Given the description of an element on the screen output the (x, y) to click on. 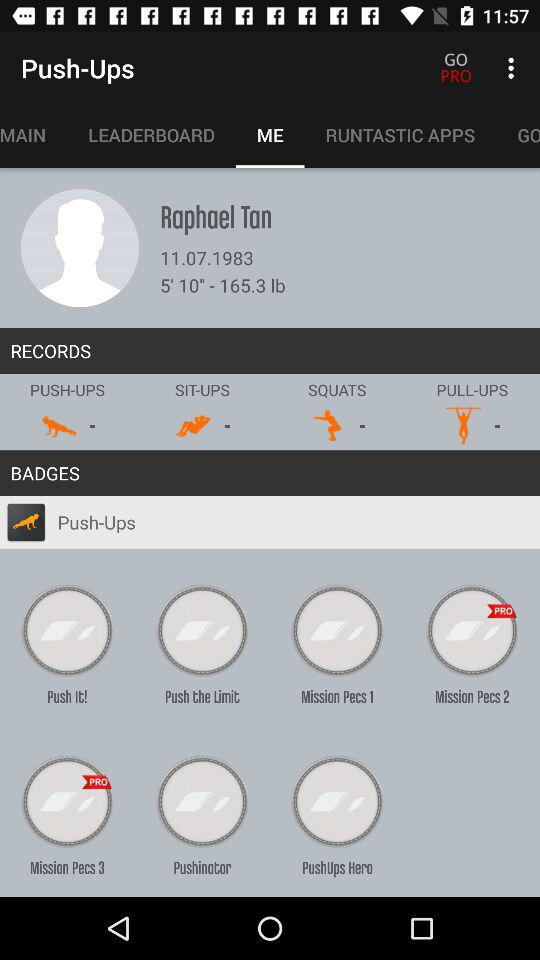
open icon to the right of the me icon (400, 135)
